Given the description of an element on the screen output the (x, y) to click on. 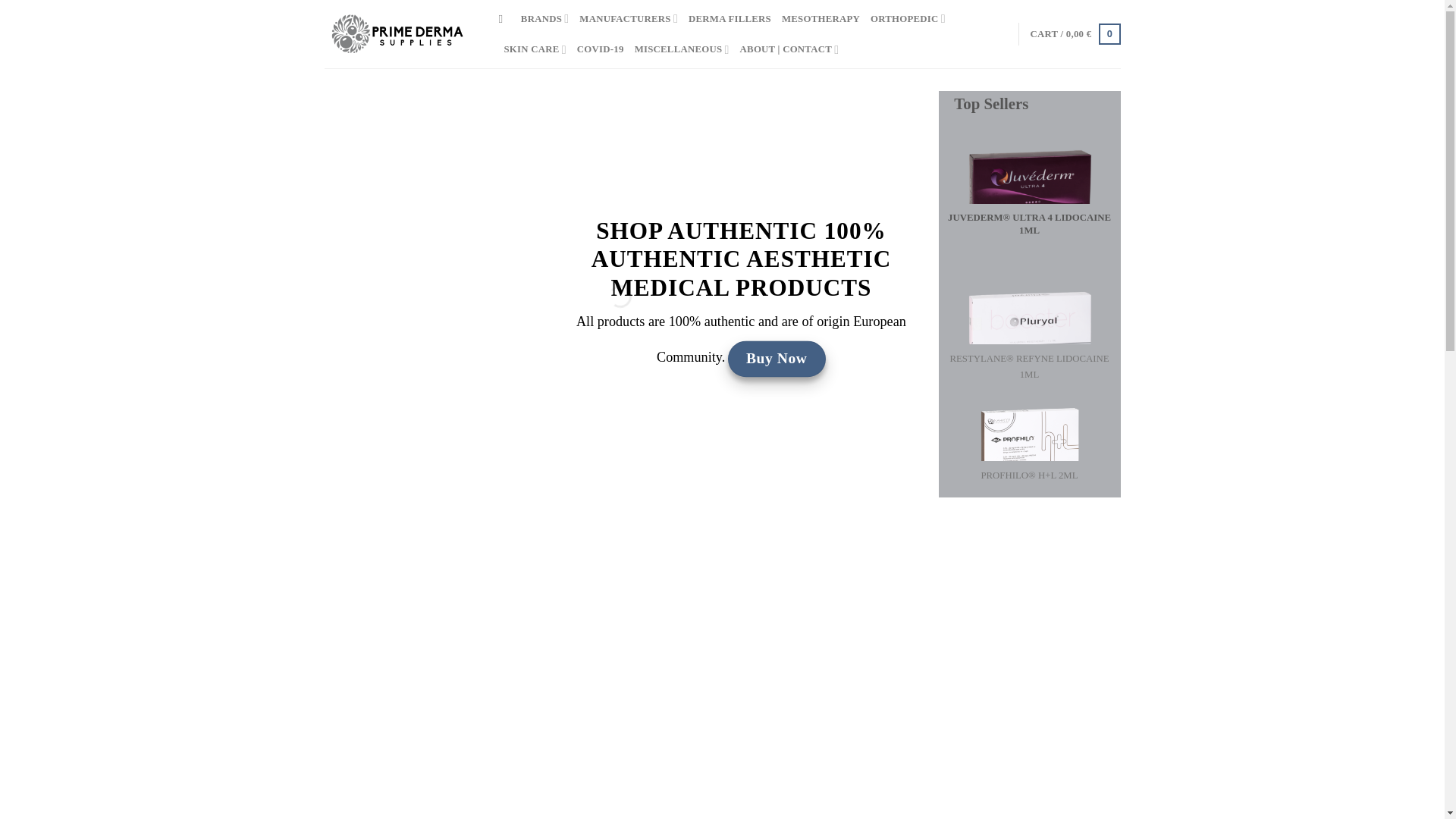
PRIMEDERMA SUPPLIES (400, 33)
Cart (1074, 34)
BRANDS (545, 19)
